Given the description of an element on the screen output the (x, y) to click on. 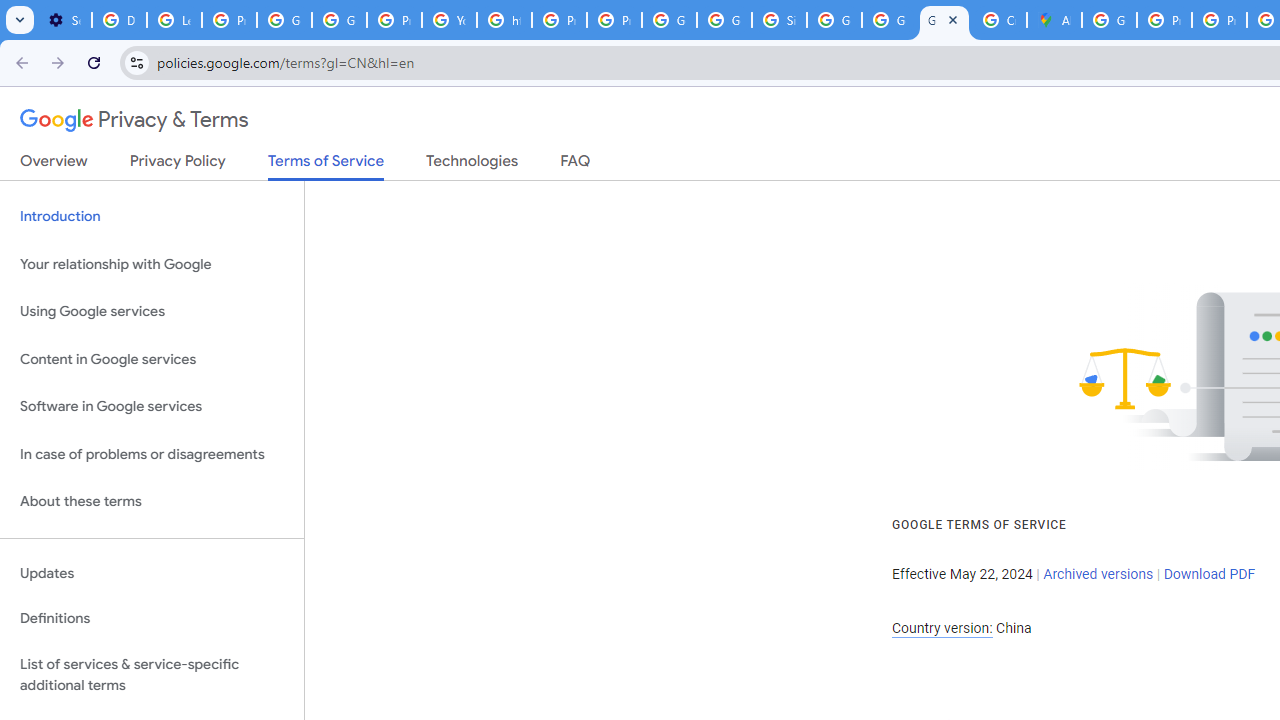
Sign in - Google Accounts (779, 20)
Privacy Help Center - Policies Help (559, 20)
Privacy Help Center - Policies Help (1218, 20)
